Given the description of an element on the screen output the (x, y) to click on. 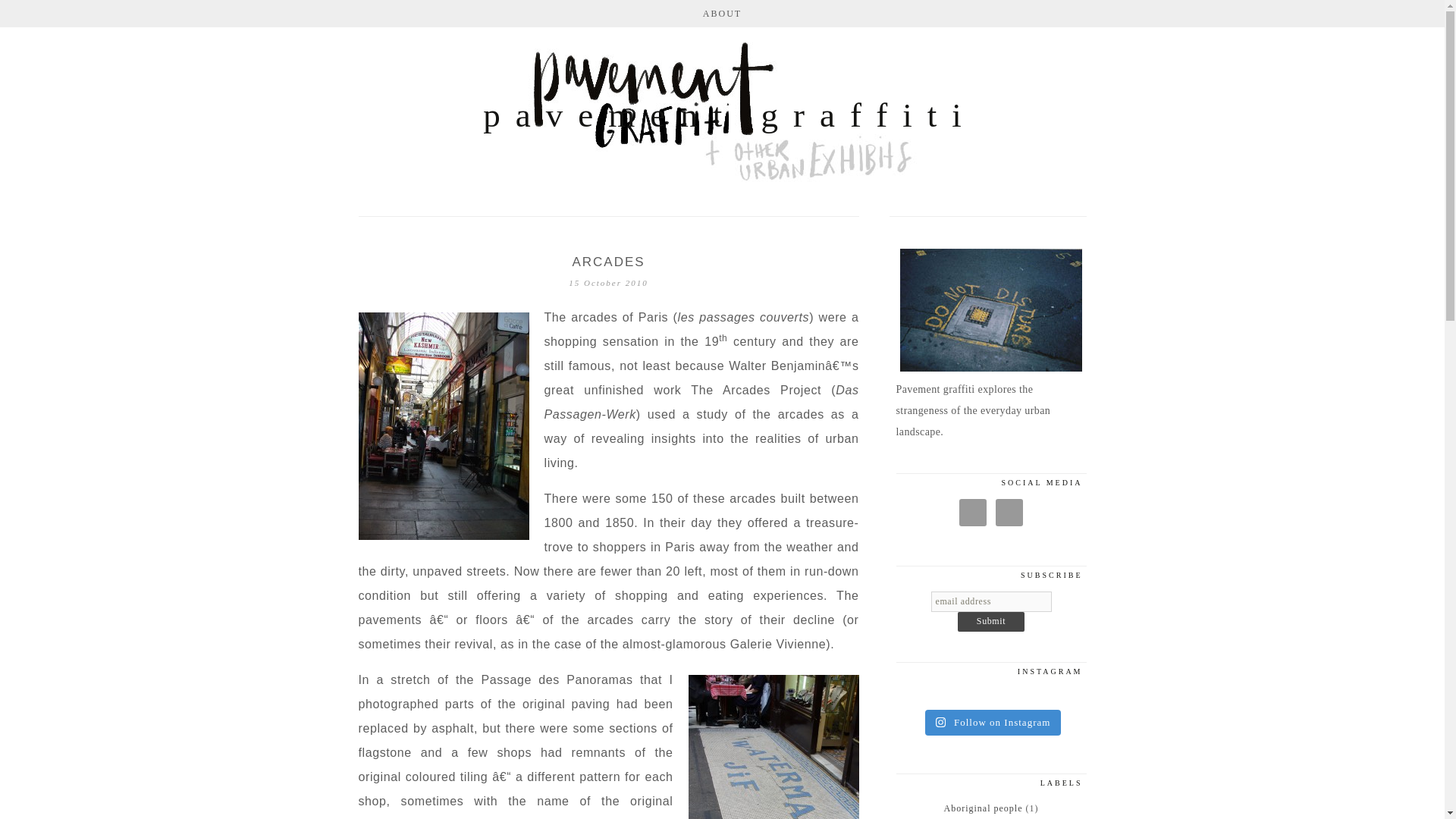
Submit (991, 621)
Pavement graffiti (722, 115)
P1100157 (773, 745)
Aboriginal people (982, 807)
pavement graffiti (722, 115)
Follow on Instagram (992, 722)
Submit (991, 621)
ABOUT (722, 13)
